Given the description of an element on the screen output the (x, y) to click on. 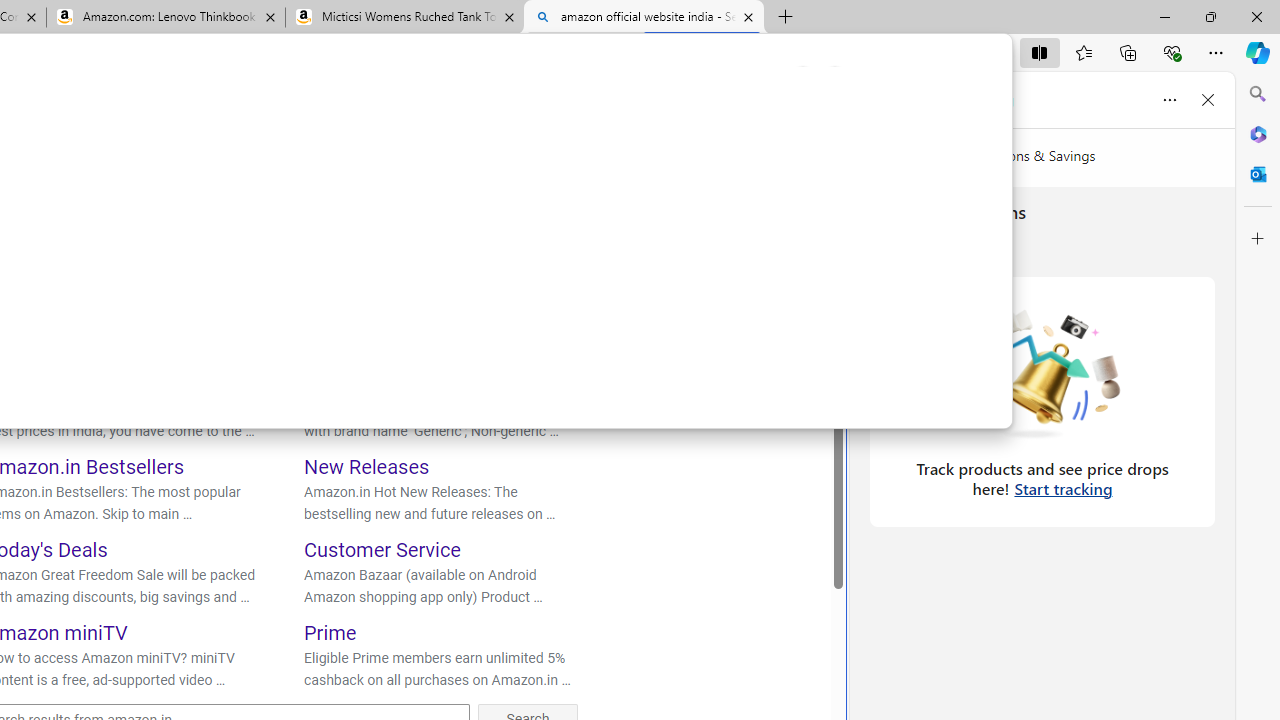
Sell (320, 384)
COPILOT (95, 173)
Search using voice (536, 117)
Close split screen. (835, 79)
TOOLS (562, 170)
Actions for this site (161, 273)
